Given the description of an element on the screen output the (x, y) to click on. 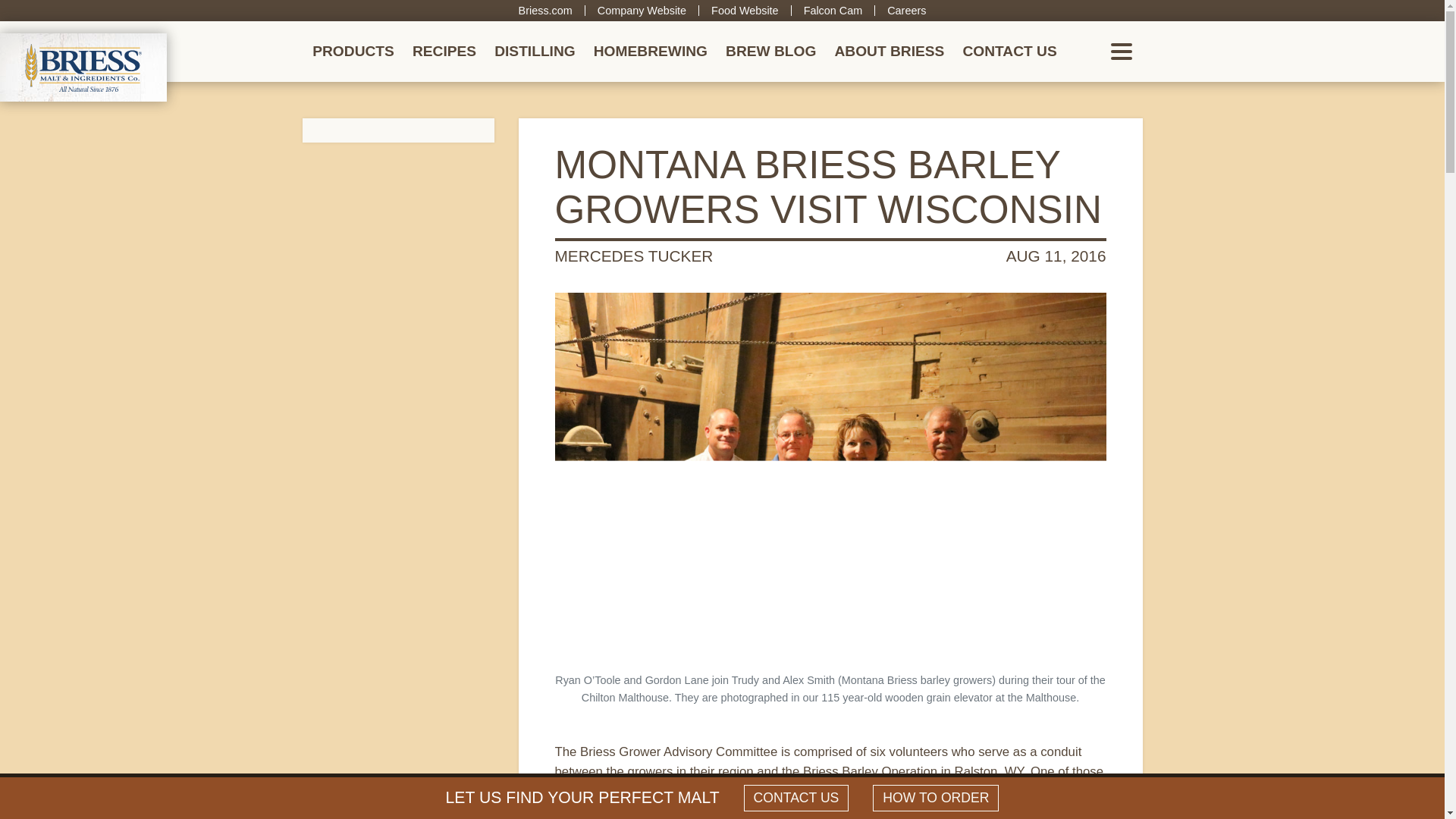
Food Website (744, 10)
Briess.com (545, 10)
HOMEBREWING (650, 51)
BREW BLOG (770, 51)
ABOUT BRIESS (889, 51)
CONTACT US (1009, 51)
Company Website (640, 10)
DISTILLING (534, 51)
PRODUCTS (352, 51)
Careers (906, 10)
